Given the description of an element on the screen output the (x, y) to click on. 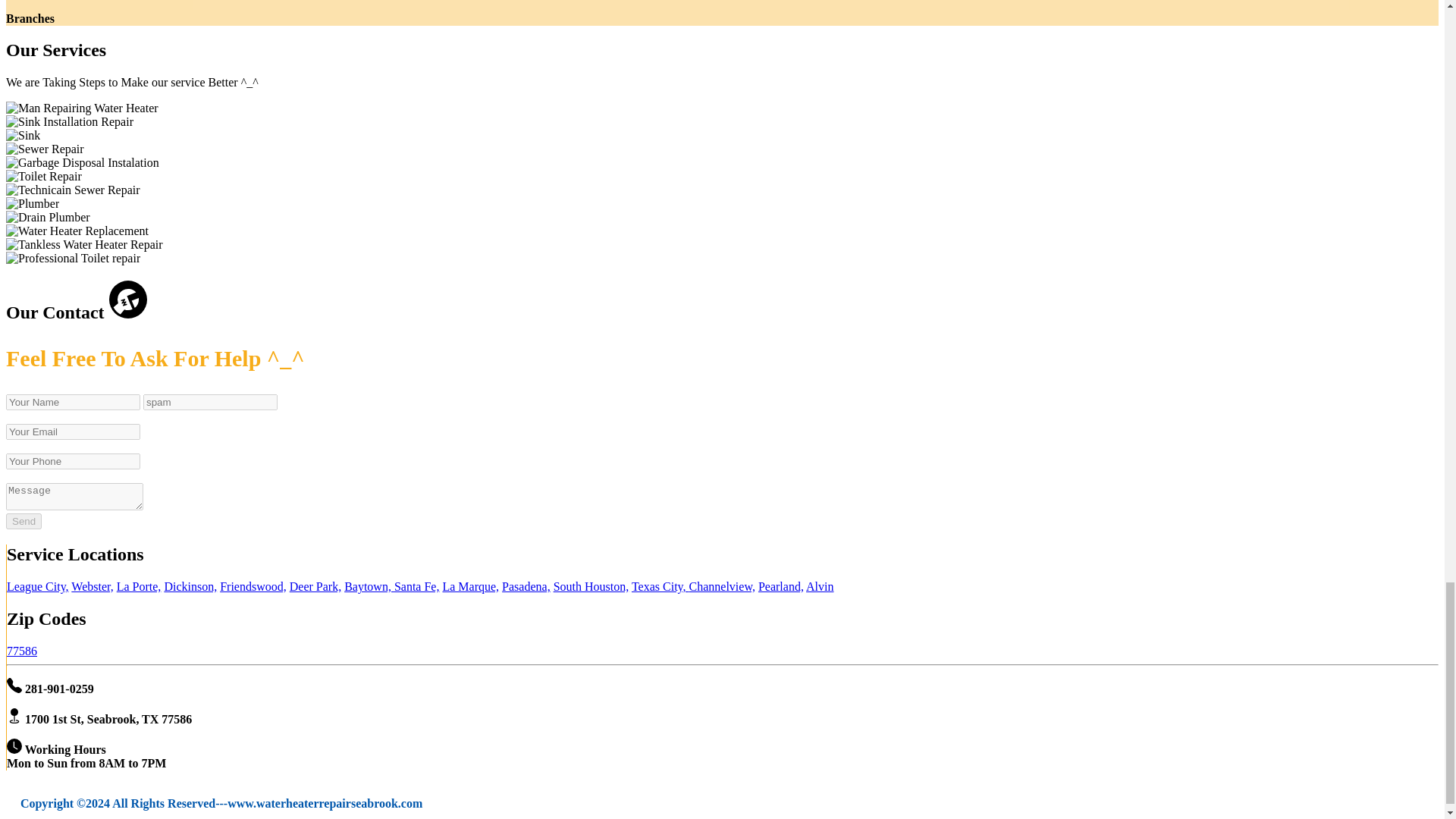
La Marque, (470, 585)
League City, (37, 585)
Alvin (819, 585)
Pearland, (780, 585)
La Porte, (138, 585)
Texas City, (659, 585)
South Houston, (590, 585)
Send (23, 521)
77586 (22, 650)
Friendswood, (252, 585)
Dickinson, (189, 585)
Baytown, (368, 585)
Deer Park, (314, 585)
Webster, (92, 585)
Pasadena, (526, 585)
